Given the description of an element on the screen output the (x, y) to click on. 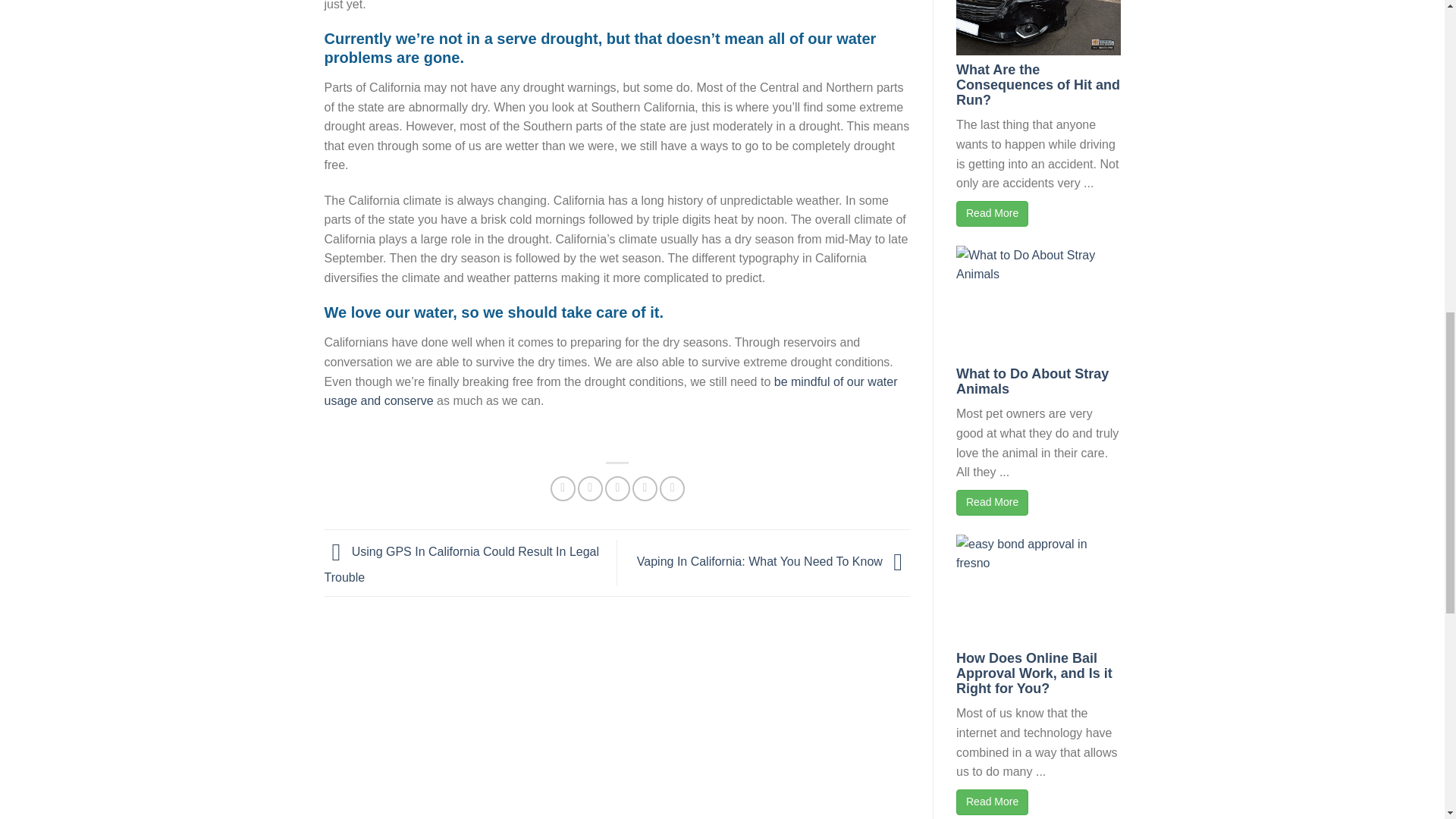
What Are the Consequences of Hit and Run? (1037, 84)
Pin on Pinterest (644, 488)
be mindful of our water usage and conserve (611, 391)
Email to a Friend (617, 488)
Vaping In California: What You Need To Know (773, 562)
Share on Facebook (562, 488)
Share on LinkedIn (671, 488)
Using GPS In California Could Result In Legal Trouble (461, 564)
Share on Twitter (590, 488)
